Given the description of an element on the screen output the (x, y) to click on. 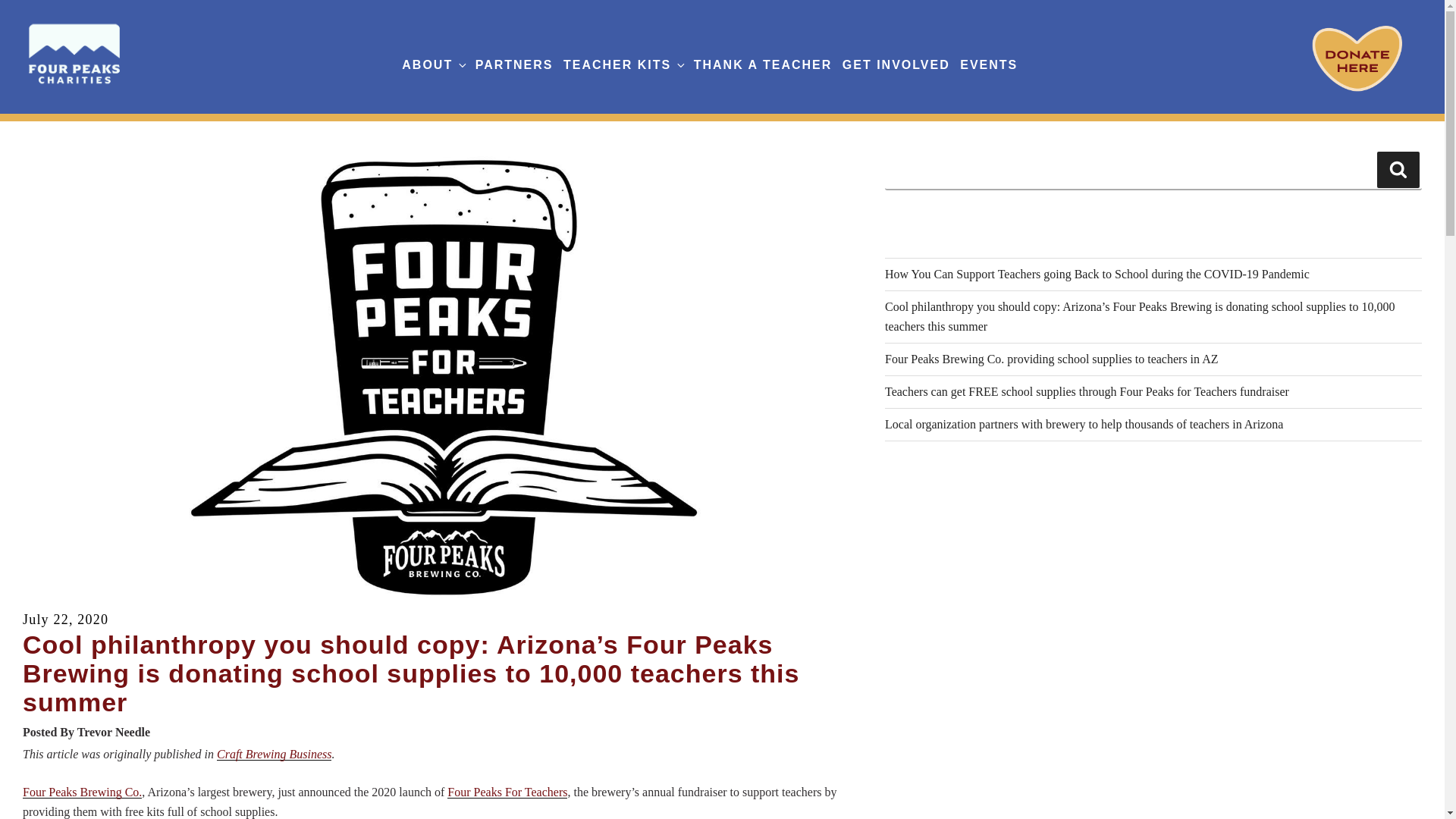
ABOUT (432, 65)
TEACHER KITS (622, 65)
July 22, 2020 (65, 619)
THANK A TEACHER (763, 65)
EVENTS (988, 65)
PARTNERS (514, 65)
GET INVOLVED (896, 65)
